Given the description of an element on the screen output the (x, y) to click on. 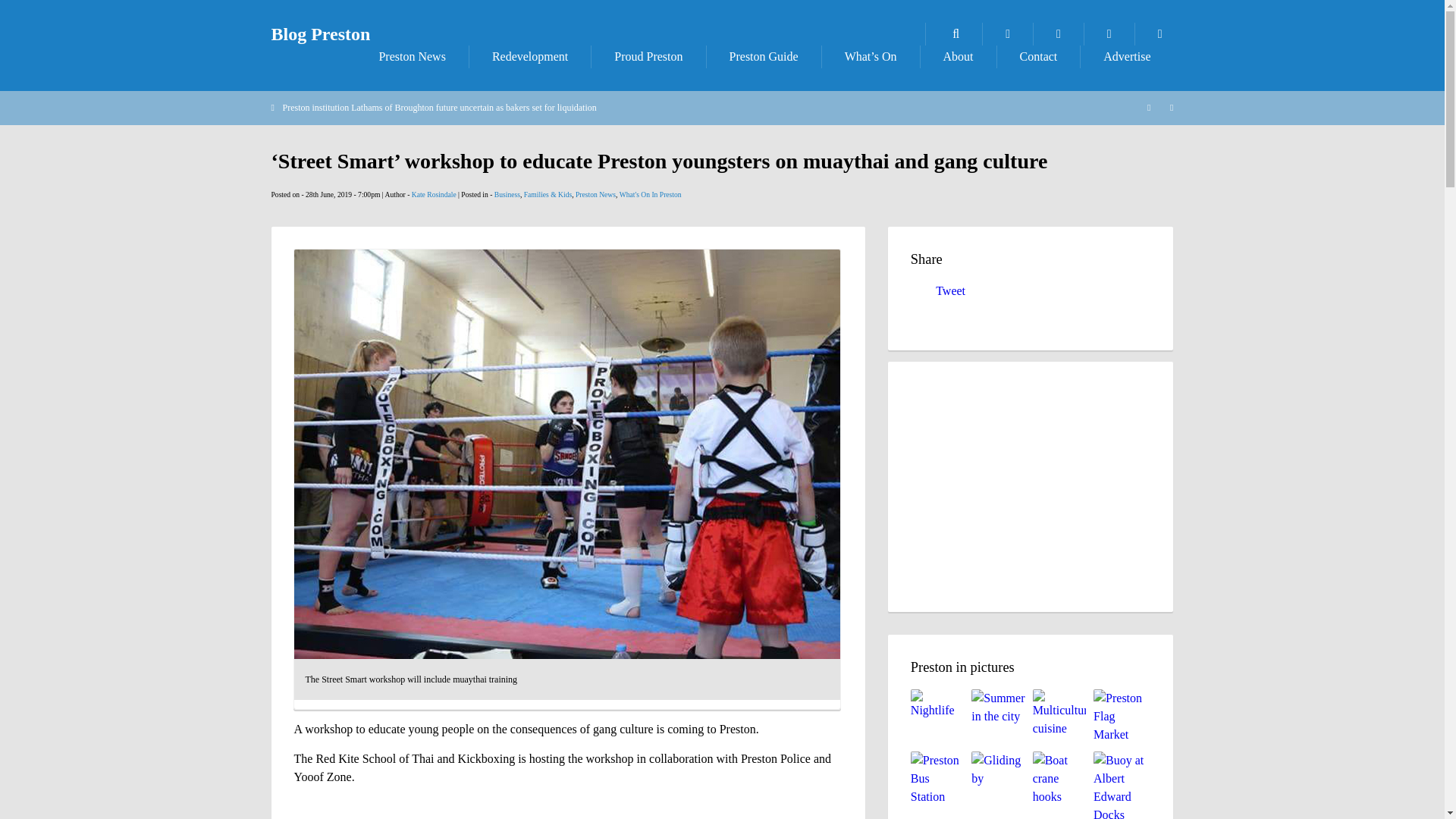
Tweet (950, 290)
About (957, 56)
Latest Preston news (411, 56)
Blog Preston on Facebook (1058, 33)
Photos from around Preston (1007, 33)
Advertise on Blog Preston (1126, 56)
Redevelopment (529, 56)
Proud Preston (647, 56)
Preston Guide (763, 56)
